Given the description of an element on the screen output the (x, y) to click on. 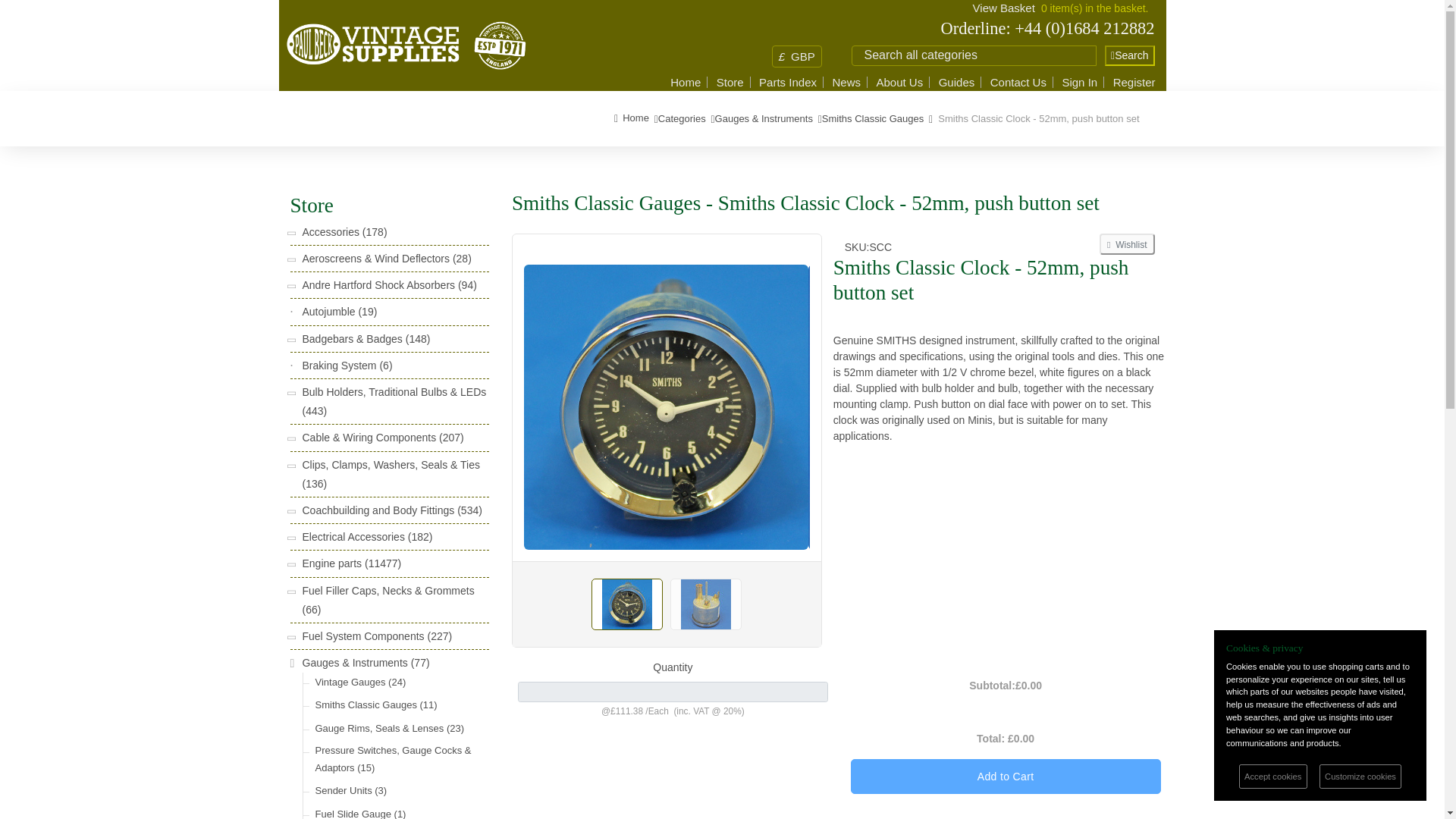
178 products in 13 subcategories (373, 232)
View Home (684, 81)
View Store (730, 81)
Contact Us (1018, 81)
Classic car parts for all classic, veteran and vintage cars (631, 117)
Home (684, 81)
View Home (845, 81)
News (845, 81)
View Basket (1003, 7)
Parts Index (787, 81)
